Given the description of an element on the screen output the (x, y) to click on. 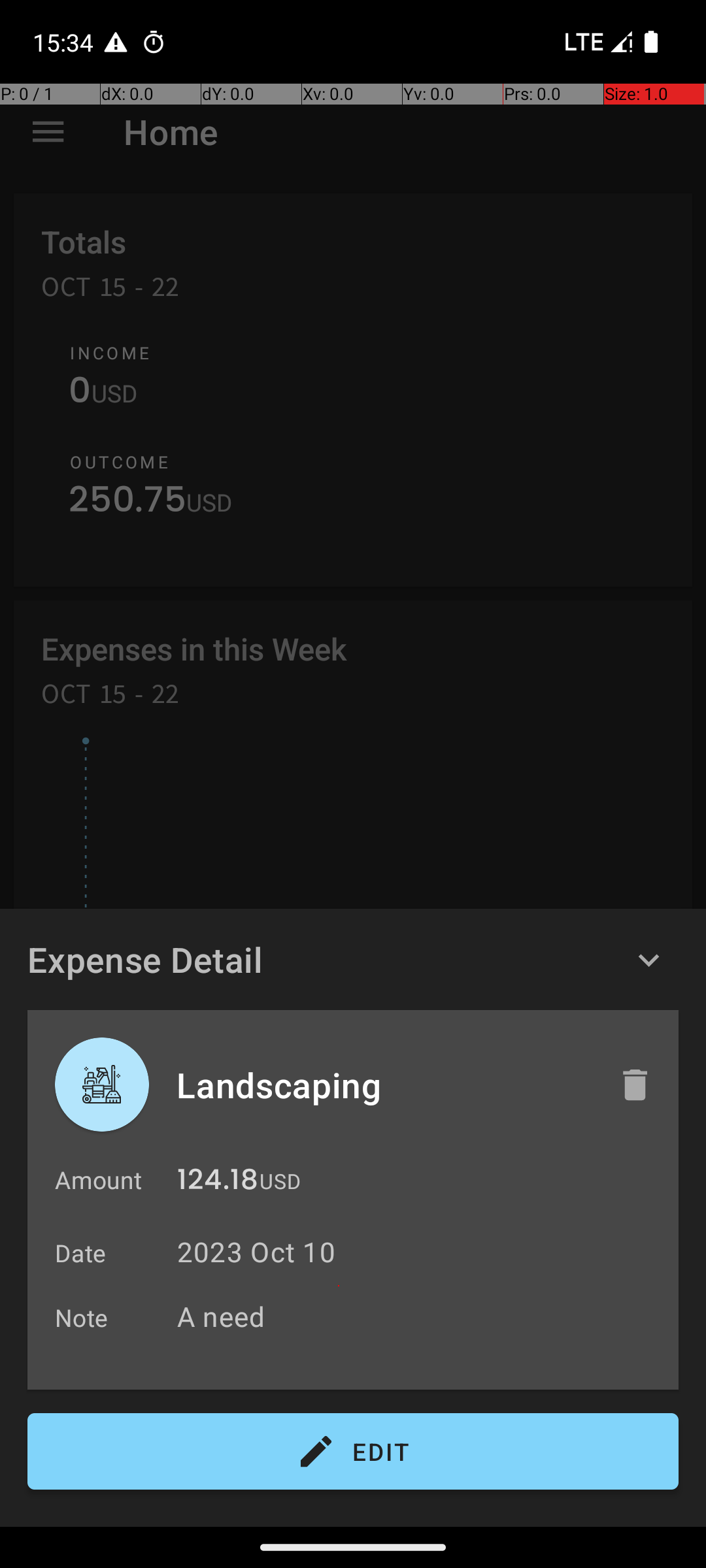
Landscaping Element type: android.widget.TextView (383, 1084)
124.18 Element type: android.widget.TextView (217, 1182)
